Given the description of an element on the screen output the (x, y) to click on. 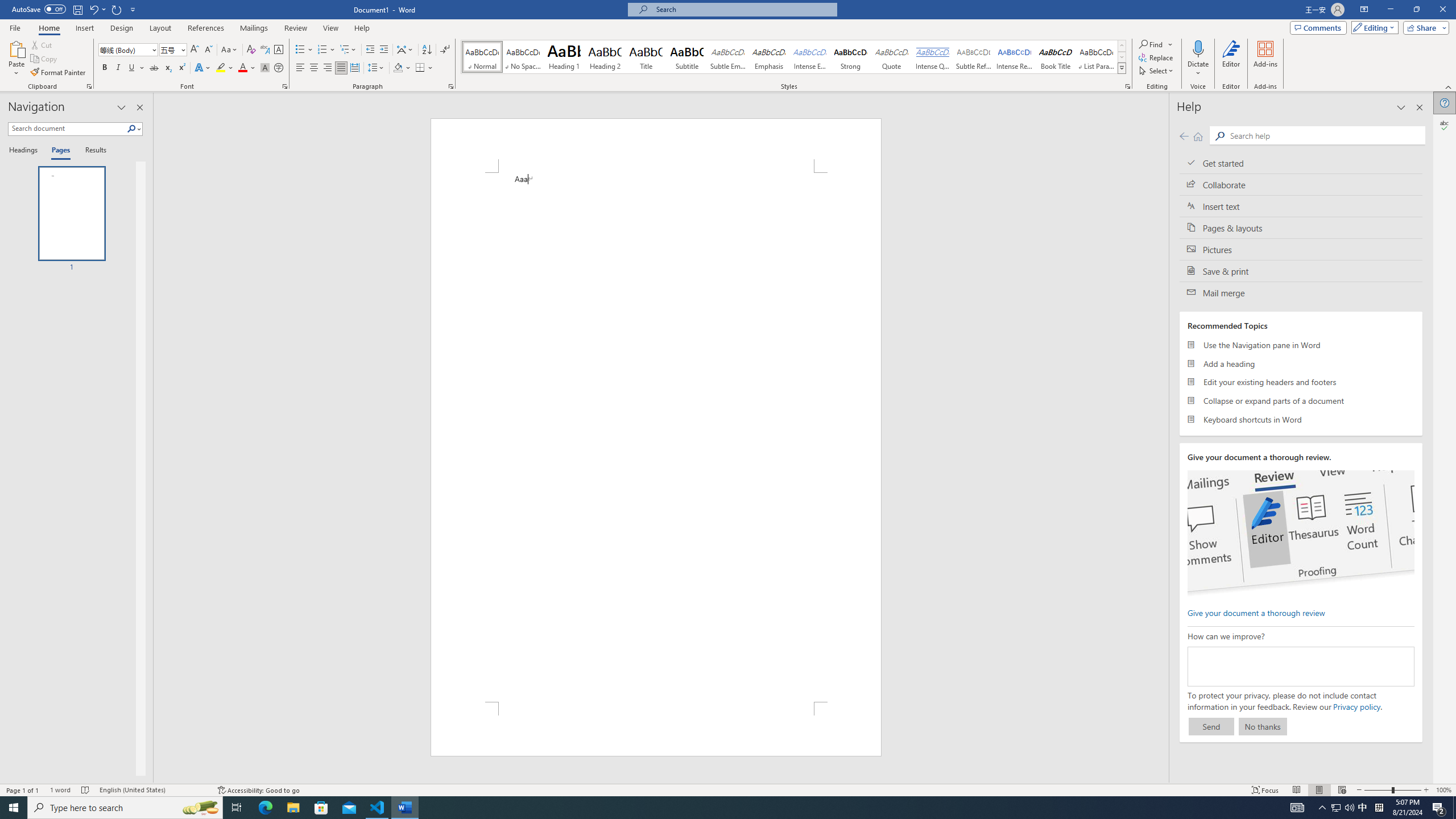
Search document (66, 128)
Ribbon Display Options (1364, 9)
Zoom 100% (1443, 790)
Collapse or expand parts of a document (1300, 400)
Strikethrough (154, 67)
View (330, 28)
Focus  (1265, 790)
Row up (1121, 45)
Text Effects and Typography (202, 67)
Collaborate (1300, 184)
